Given the description of an element on the screen output the (x, y) to click on. 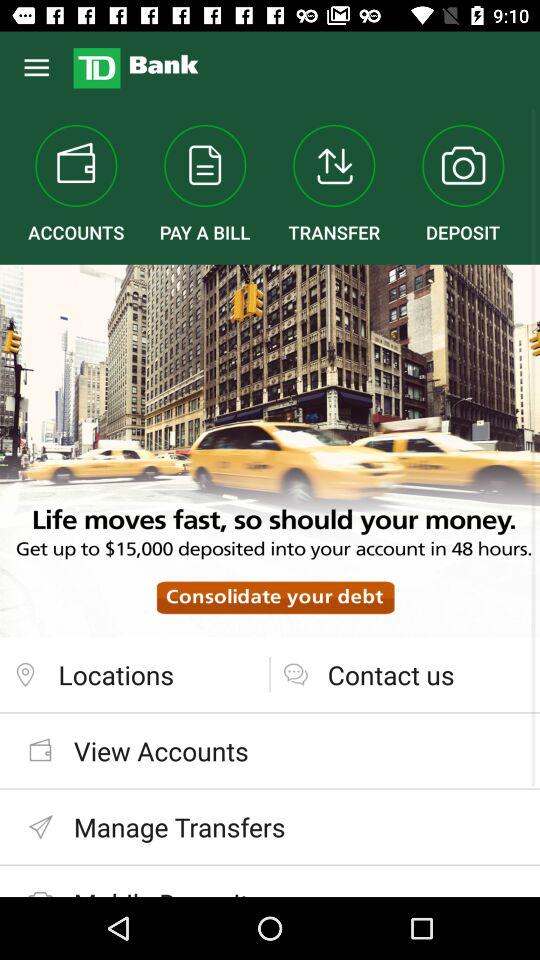
swipe to mobile deposit (270, 880)
